Given the description of an element on the screen output the (x, y) to click on. 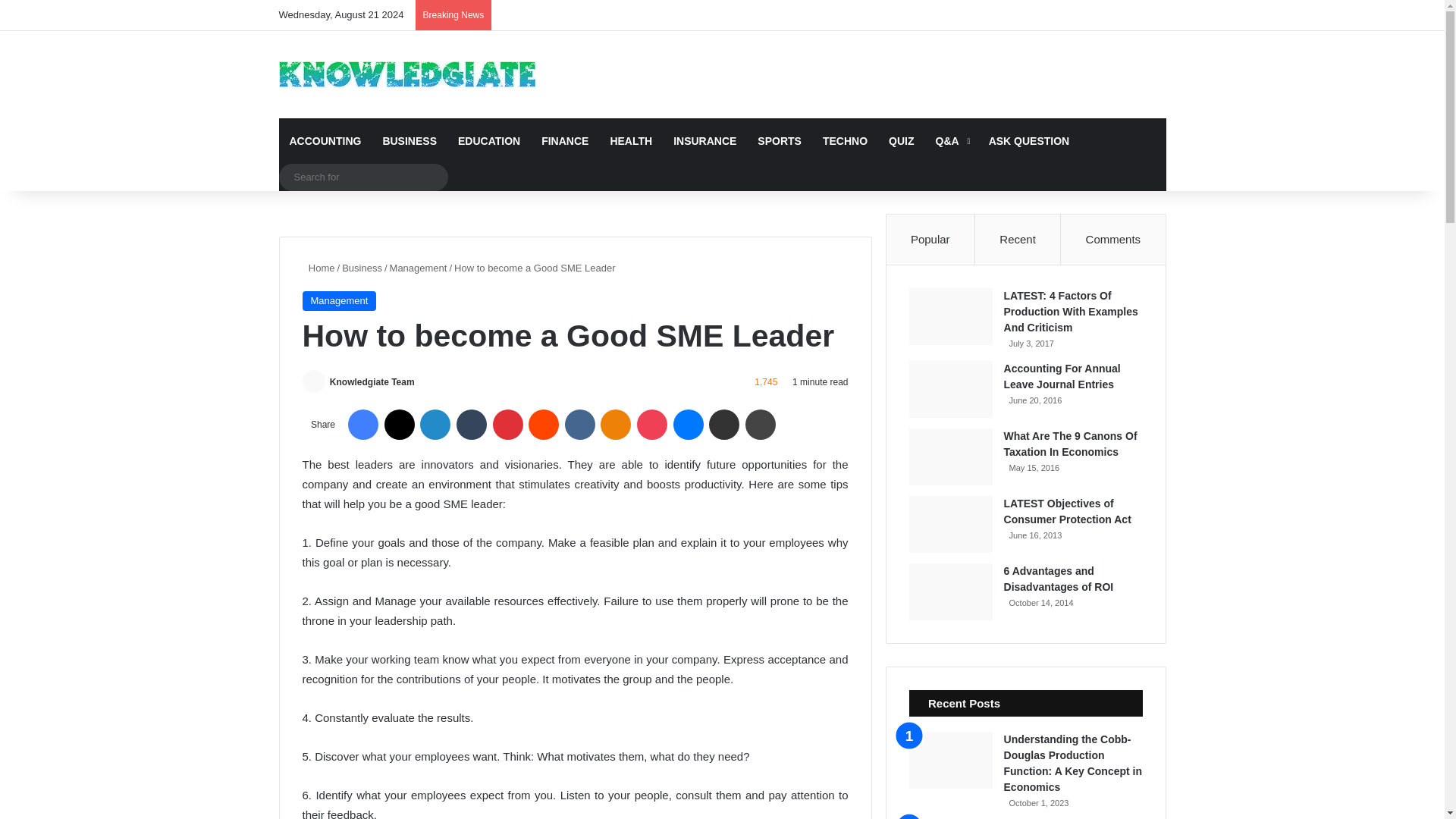
Print (760, 424)
Facebook (362, 424)
Pinterest (507, 424)
EDUCATION (488, 140)
Messenger (687, 424)
Business Finance and Accounting Blog (407, 74)
BUSINESS (408, 140)
VKontakte (579, 424)
FINANCE (564, 140)
X (399, 424)
